Given the description of an element on the screen output the (x, y) to click on. 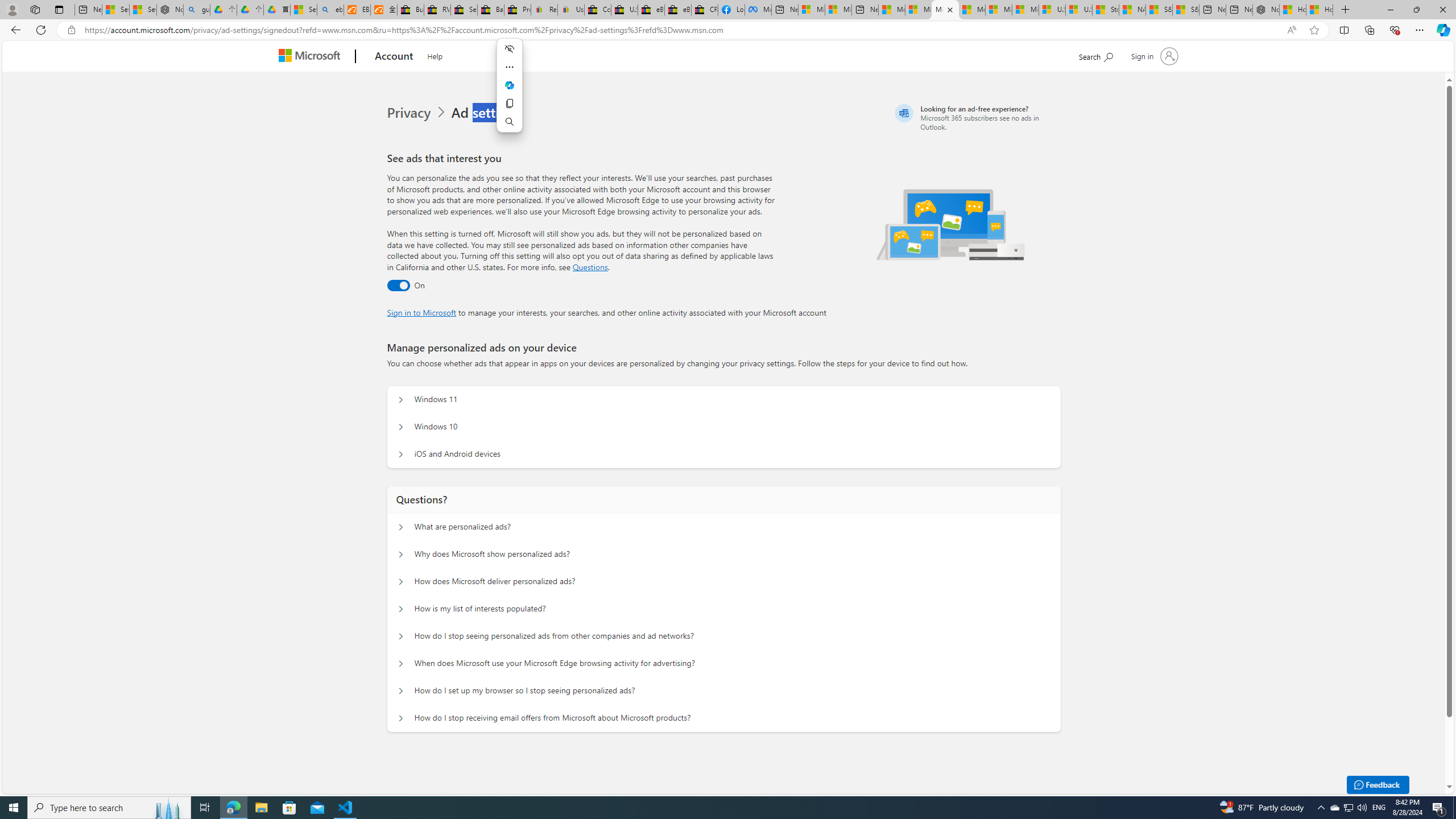
Press Room - eBay Inc. (517, 9)
